Given the description of an element on the screen output the (x, y) to click on. 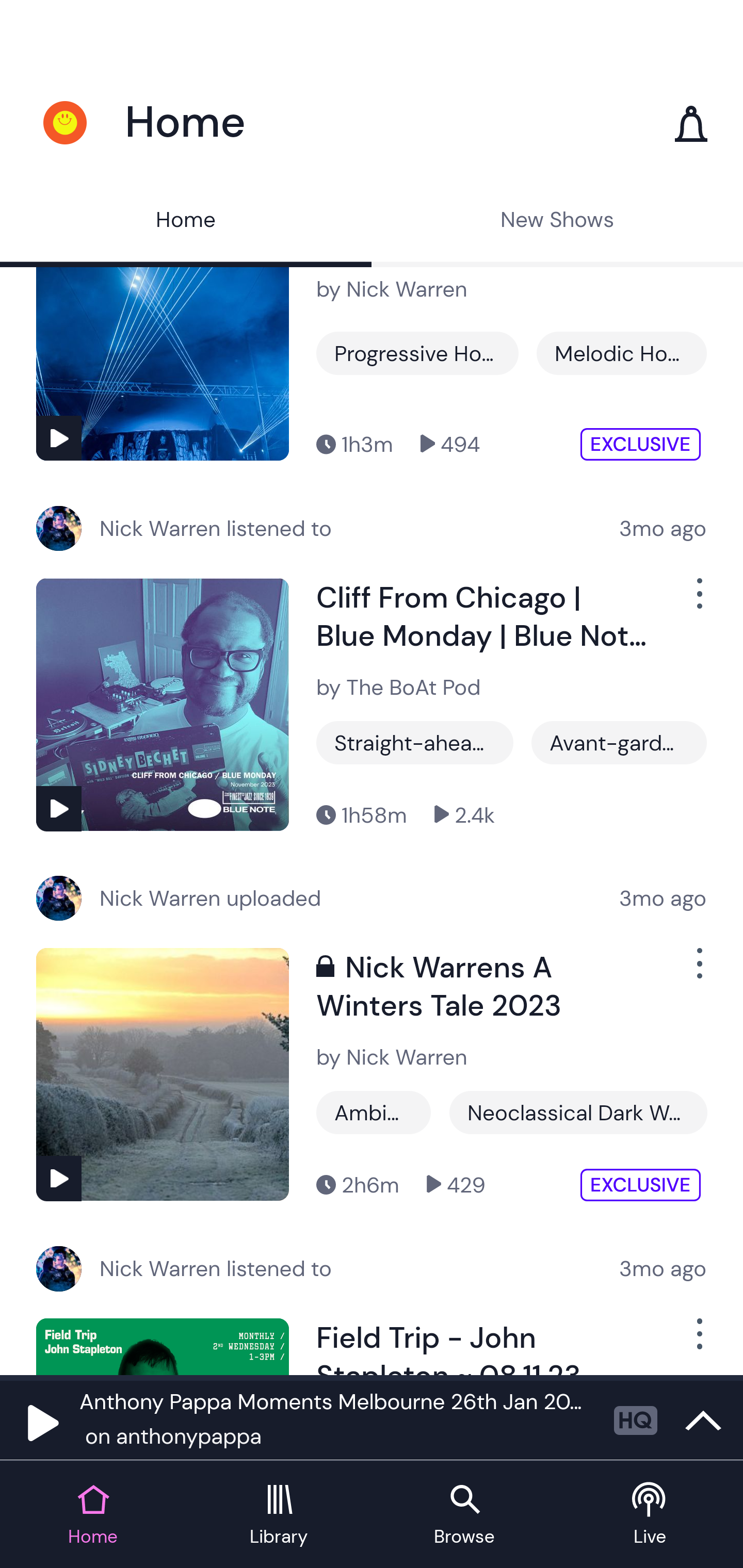
Home (185, 221)
New Shows (557, 221)
Progressive House (417, 353)
Melodic House (621, 353)
Show Options Menu Button (697, 601)
Straight-ahead Jazz (414, 743)
Avant-garde Jazz (618, 743)
Show Options Menu Button (697, 971)
Ambient (373, 1112)
Neoclassical Dark Wave (577, 1112)
Show Options Menu Button (697, 1341)
Home tab Home (92, 1515)
Library tab Library (278, 1515)
Browse tab Browse (464, 1515)
Live tab Live (650, 1515)
